Given the description of an element on the screen output the (x, y) to click on. 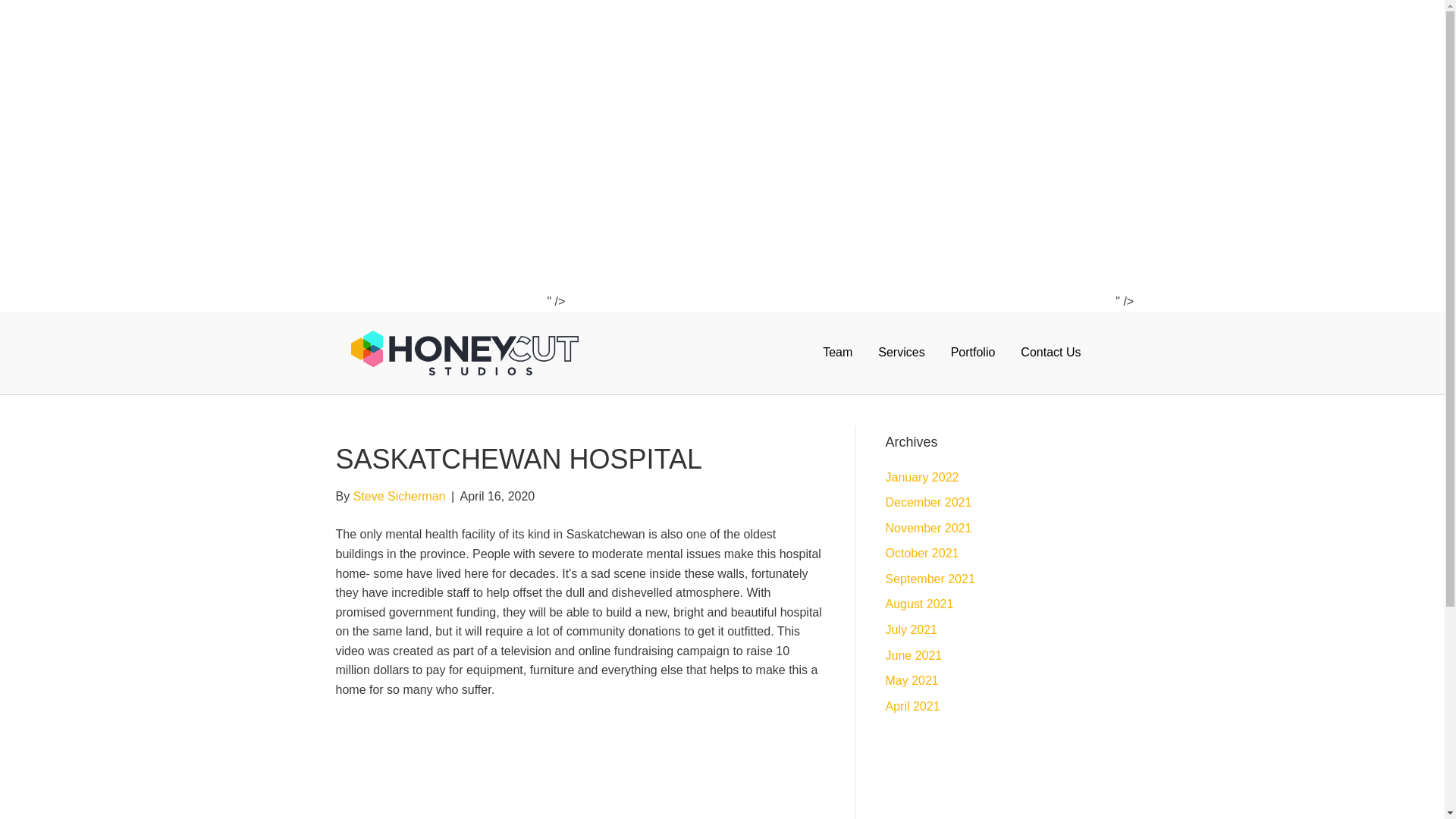
November 2021 (928, 527)
Team (836, 352)
May 2021 (912, 680)
Contact Us (1050, 352)
January 2022 (922, 477)
Steve Sicherman (399, 495)
October 2021 (922, 553)
December 2021 (928, 502)
August 2021 (919, 603)
Portfolio (973, 352)
